Given the description of an element on the screen output the (x, y) to click on. 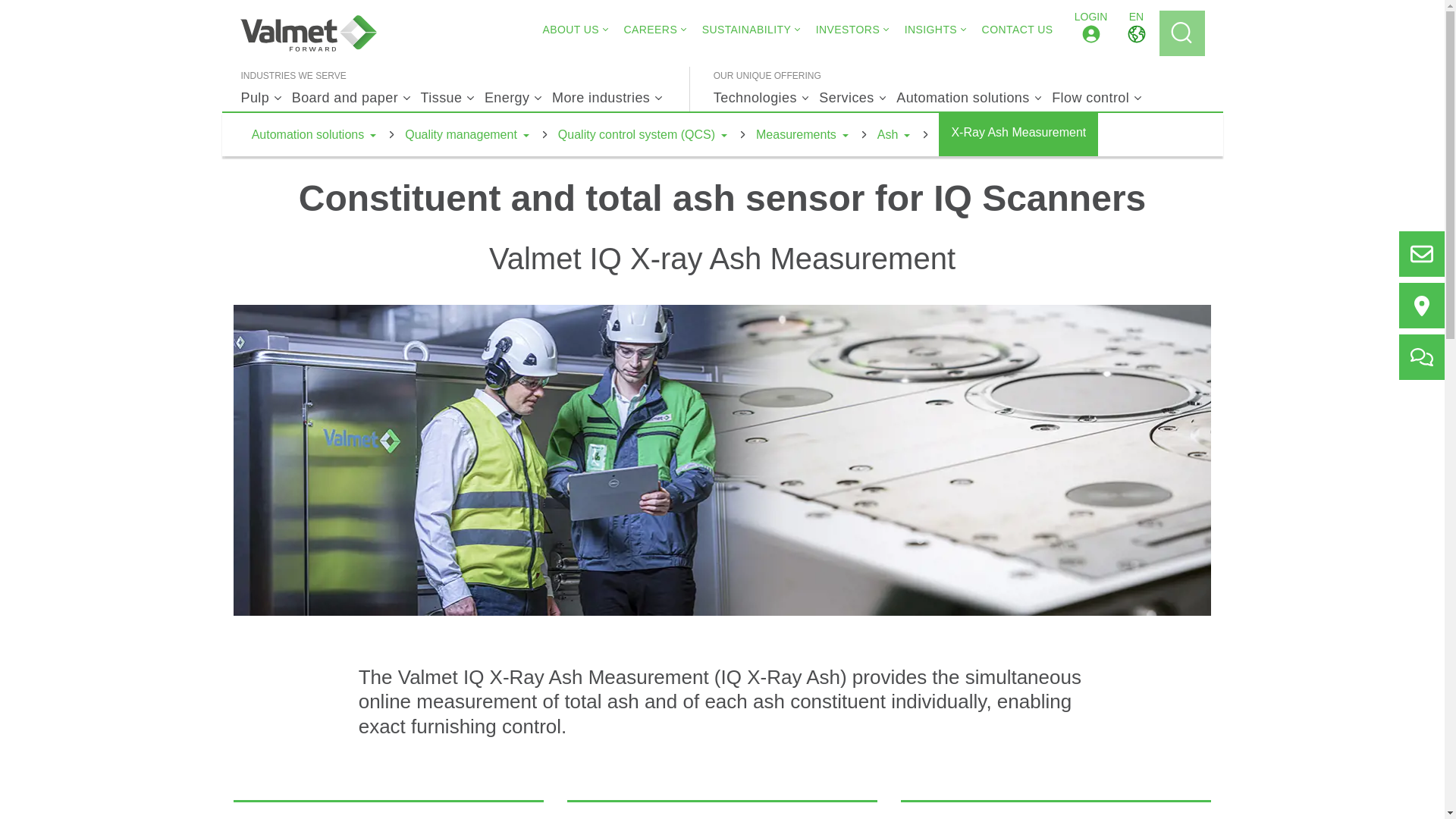
Valmet - Forward (307, 33)
LOGIN (1090, 33)
EN (1135, 33)
Leadoo's chatbot window (1292, 525)
Leadoo chatbot launcher (1412, 786)
ABOUT US (570, 29)
